Given the description of an element on the screen output the (x, y) to click on. 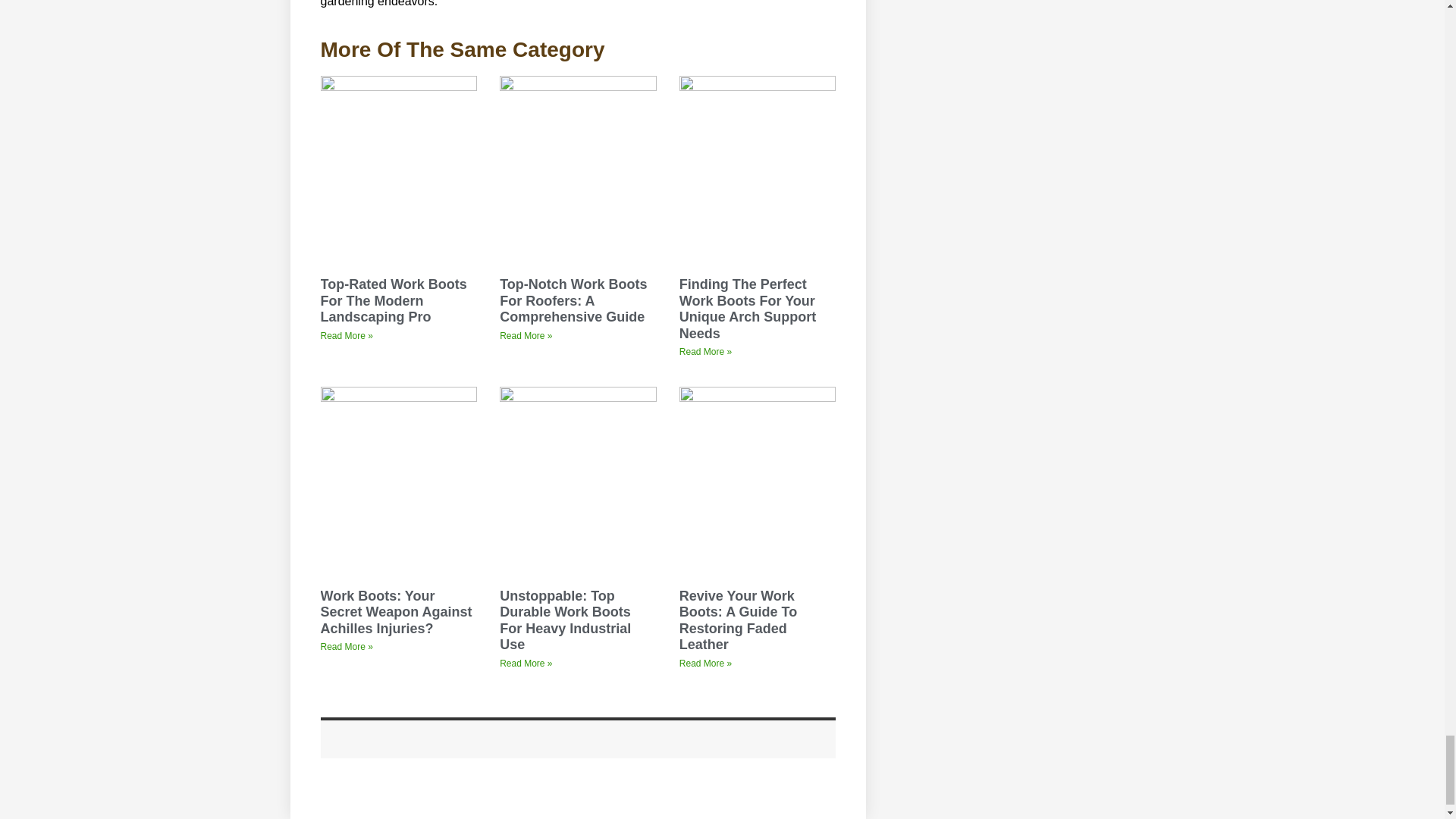
Top-Notch Work Boots For Roofers: A Comprehensive Guide (572, 300)
Revive Your Work Boots: A Guide To Restoring Faded Leather (737, 620)
Work Boots: Your Secret Weapon Against Achilles Injuries? (395, 612)
Unstoppable: Top Durable Work Boots For Heavy Industrial Use (564, 620)
Top-Rated Work Boots For The Modern Landscaping Pro (392, 300)
